Given the description of an element on the screen output the (x, y) to click on. 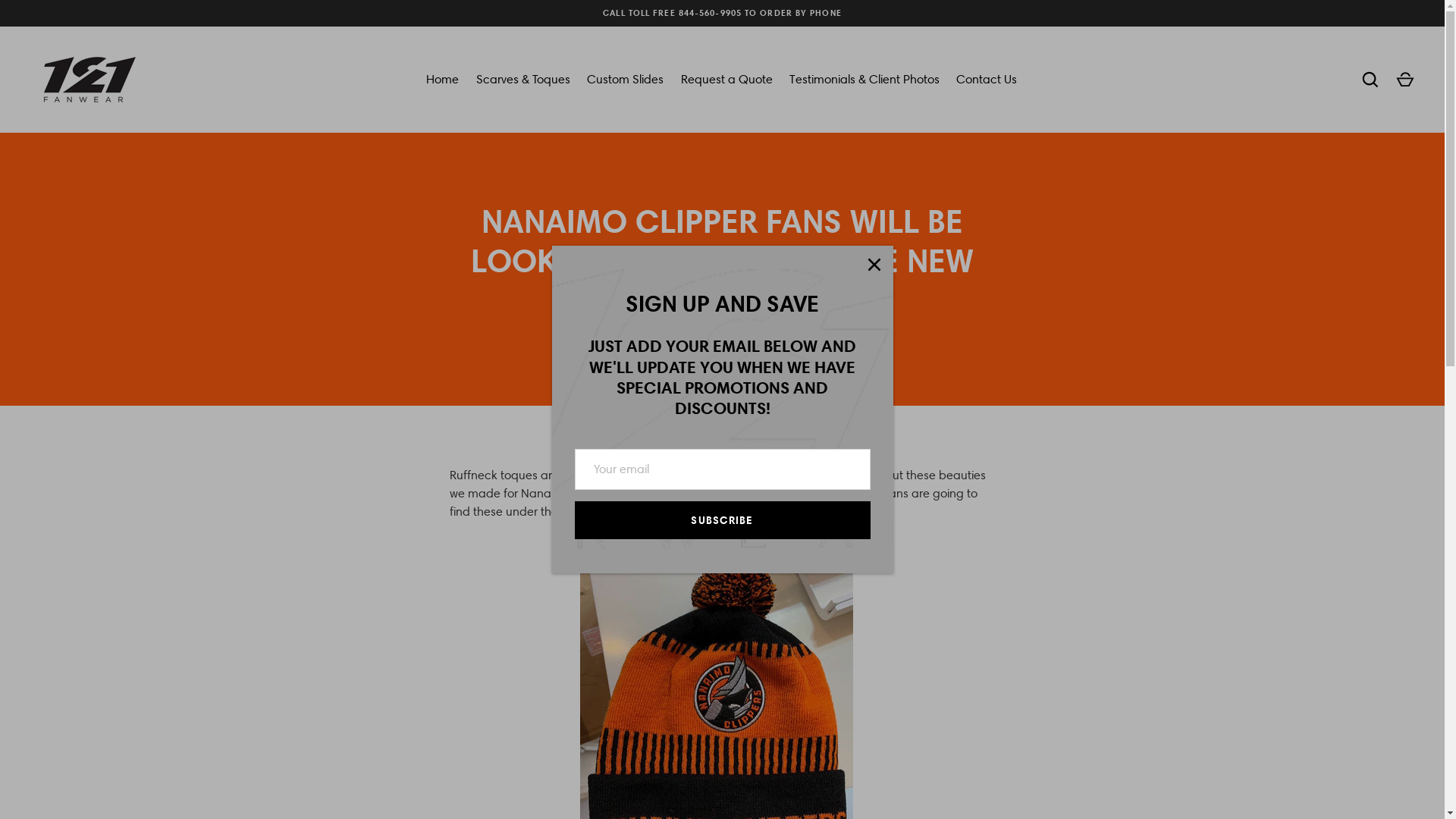
Contact Us Element type: text (986, 79)
SUBSCRIBE Element type: text (722, 520)
Scarves & Toques Element type: text (522, 79)
Testimonials & Client Photos Element type: text (864, 79)
Custom Slides Element type: text (624, 79)
Request a Quote Element type: text (725, 79)
Home Element type: text (442, 79)
